Given the description of an element on the screen output the (x, y) to click on. 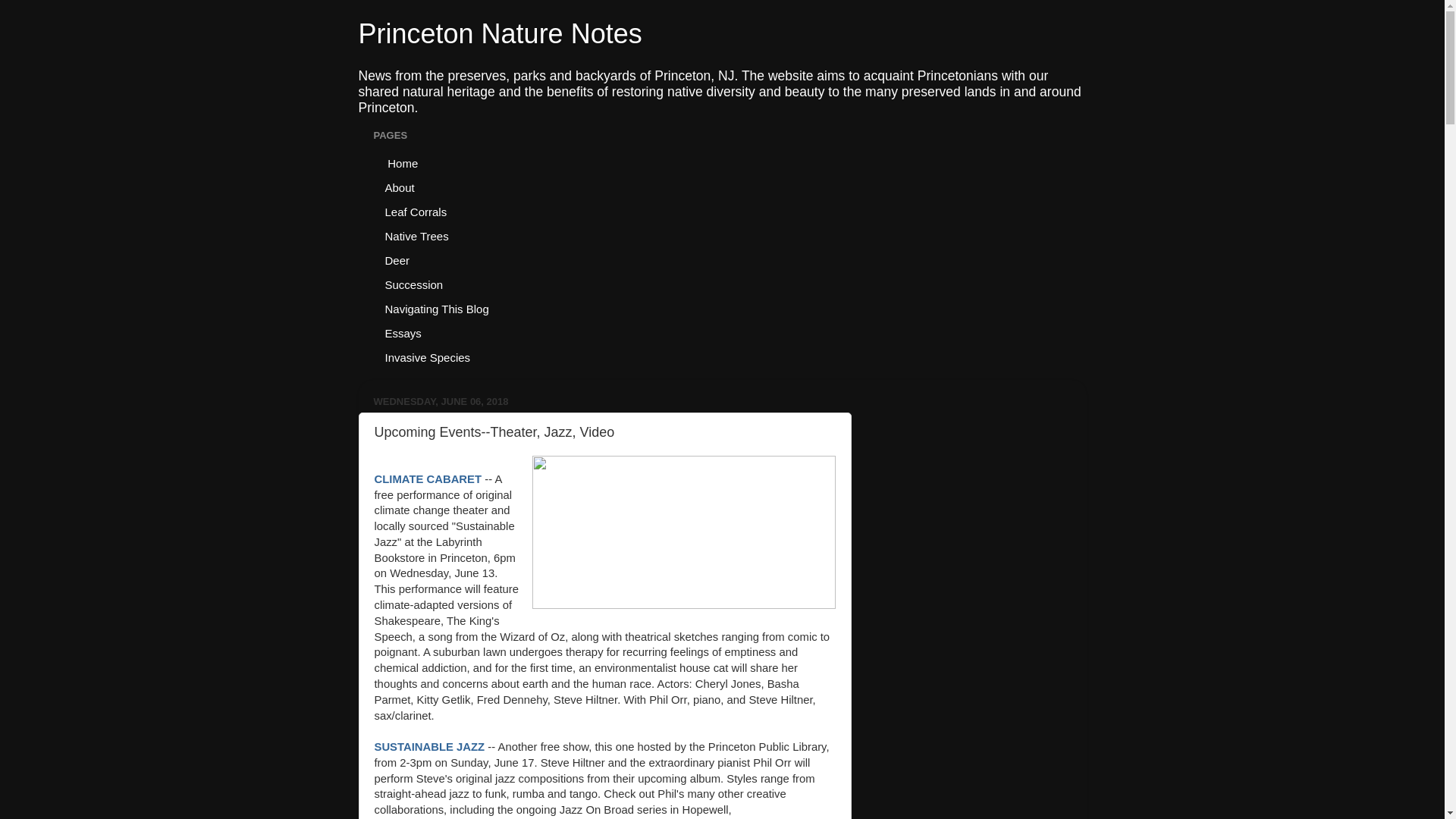
About (399, 187)
Home (400, 162)
Princeton Nature Notes (500, 33)
CLIMATE CABARET (427, 479)
Navigating This Blog (436, 308)
Native Trees (416, 235)
Invasive Species (426, 356)
Essays (402, 332)
Leaf Corrals (415, 211)
Succession (413, 283)
Deer (397, 259)
SUSTAINABLE JAZZ (429, 746)
